Given the description of an element on the screen output the (x, y) to click on. 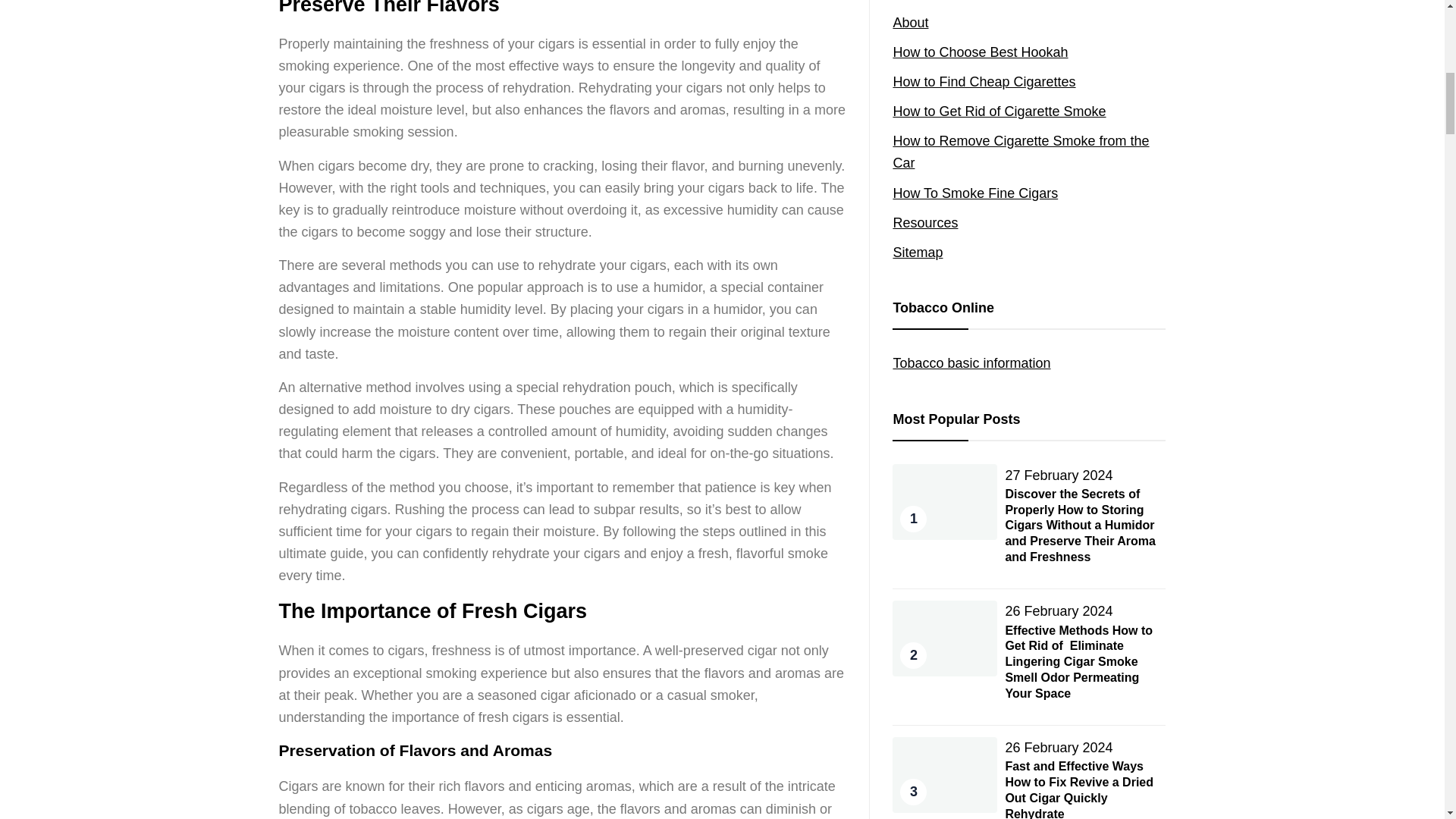
Sitemap (917, 252)
How To Smoke Fine Cigars (975, 192)
How to Remove Cigarette Smoke from the Car (1020, 151)
27 February 2024 (1058, 475)
How to Get Rid of Cigarette Smoke (998, 111)
Resources (925, 222)
Tobacco basic information (970, 363)
26 February 2024 (1058, 747)
About (910, 22)
How to Choose Best Hookah (979, 52)
26 February 2024 (1058, 611)
How to Find Cheap Cigarettes (983, 81)
